Given the description of an element on the screen output the (x, y) to click on. 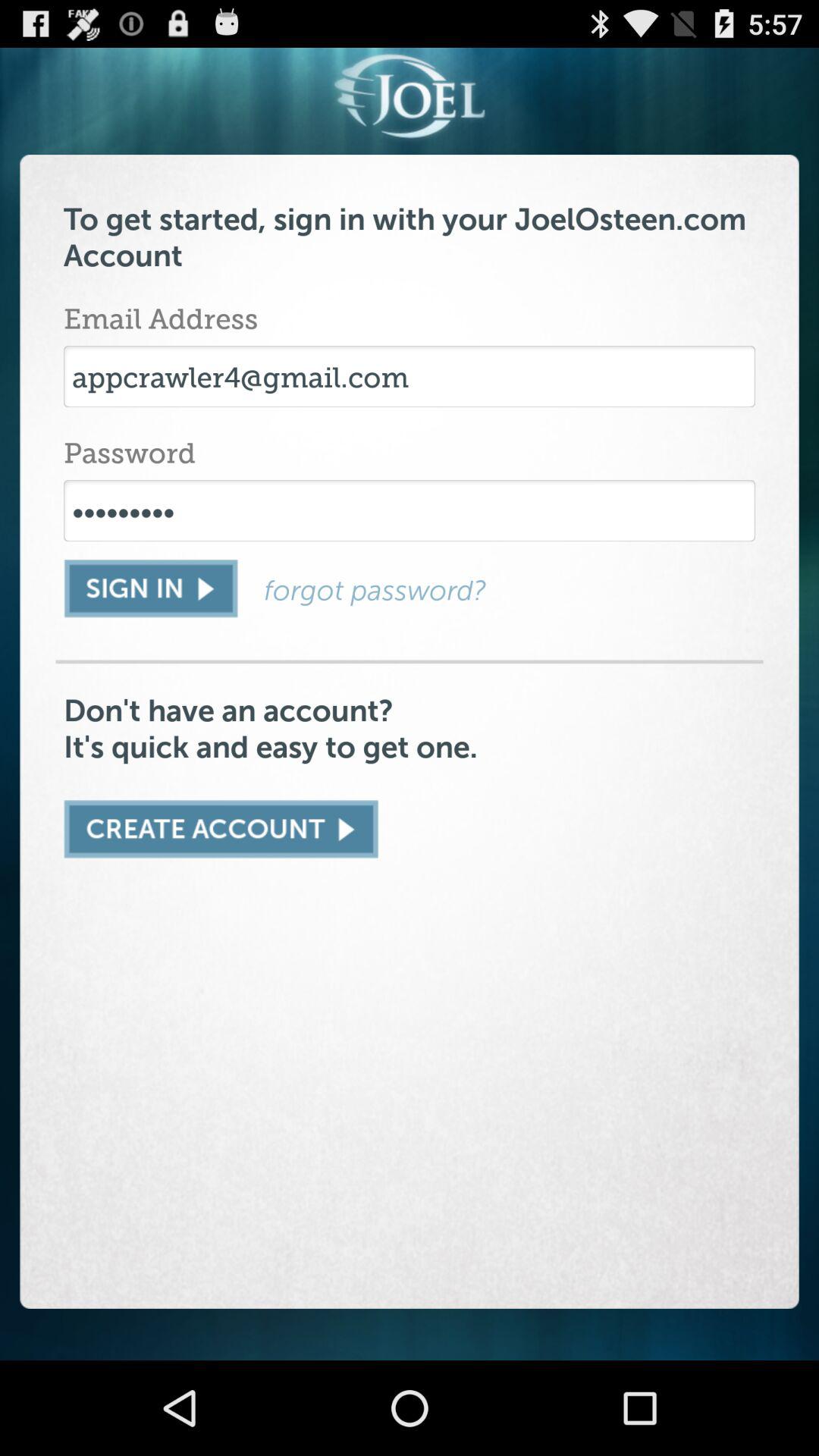
jump to forgot password? (509, 590)
